Given the description of an element on the screen output the (x, y) to click on. 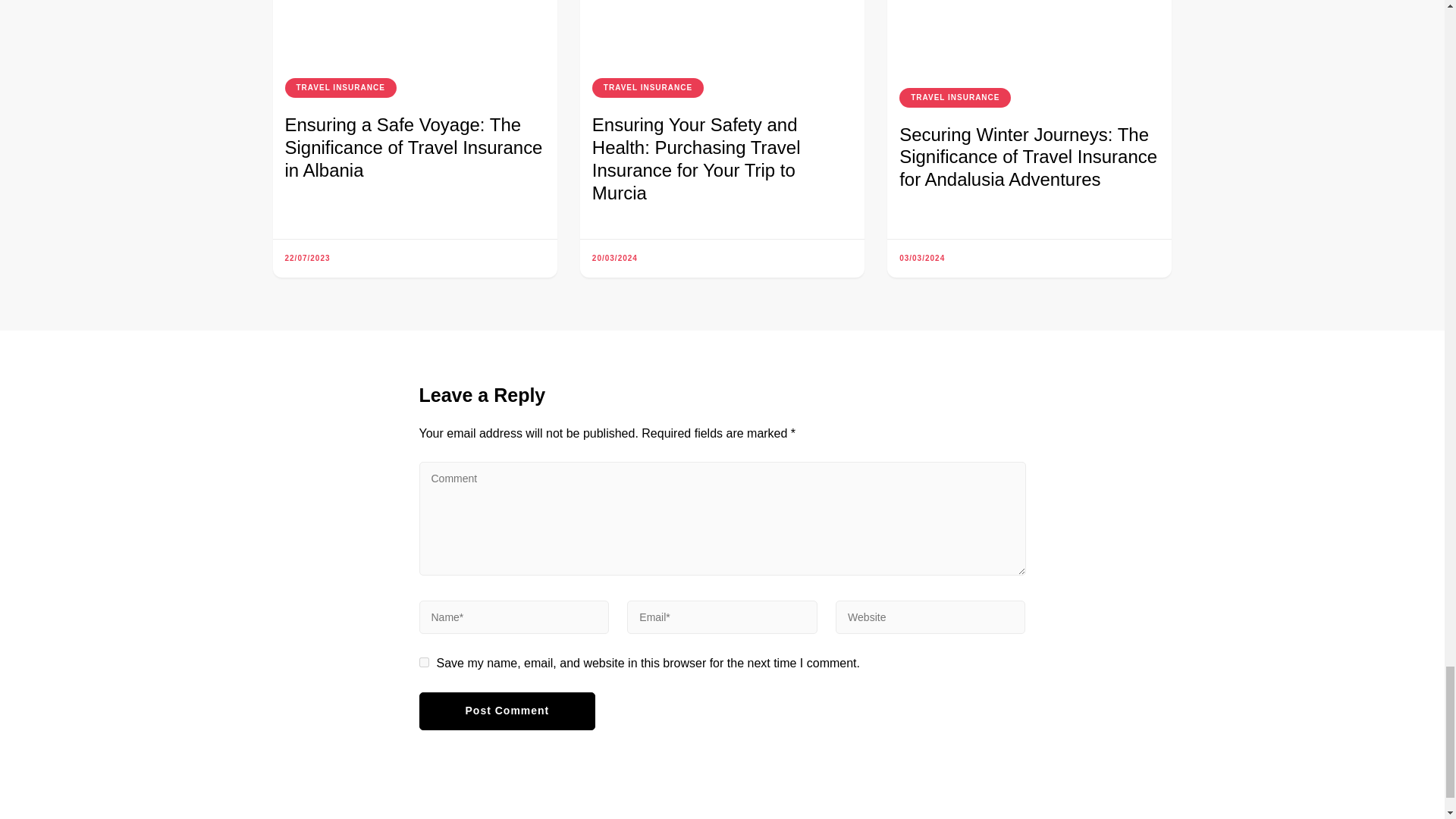
Post Comment (507, 711)
yes (423, 662)
